Given the description of an element on the screen output the (x, y) to click on. 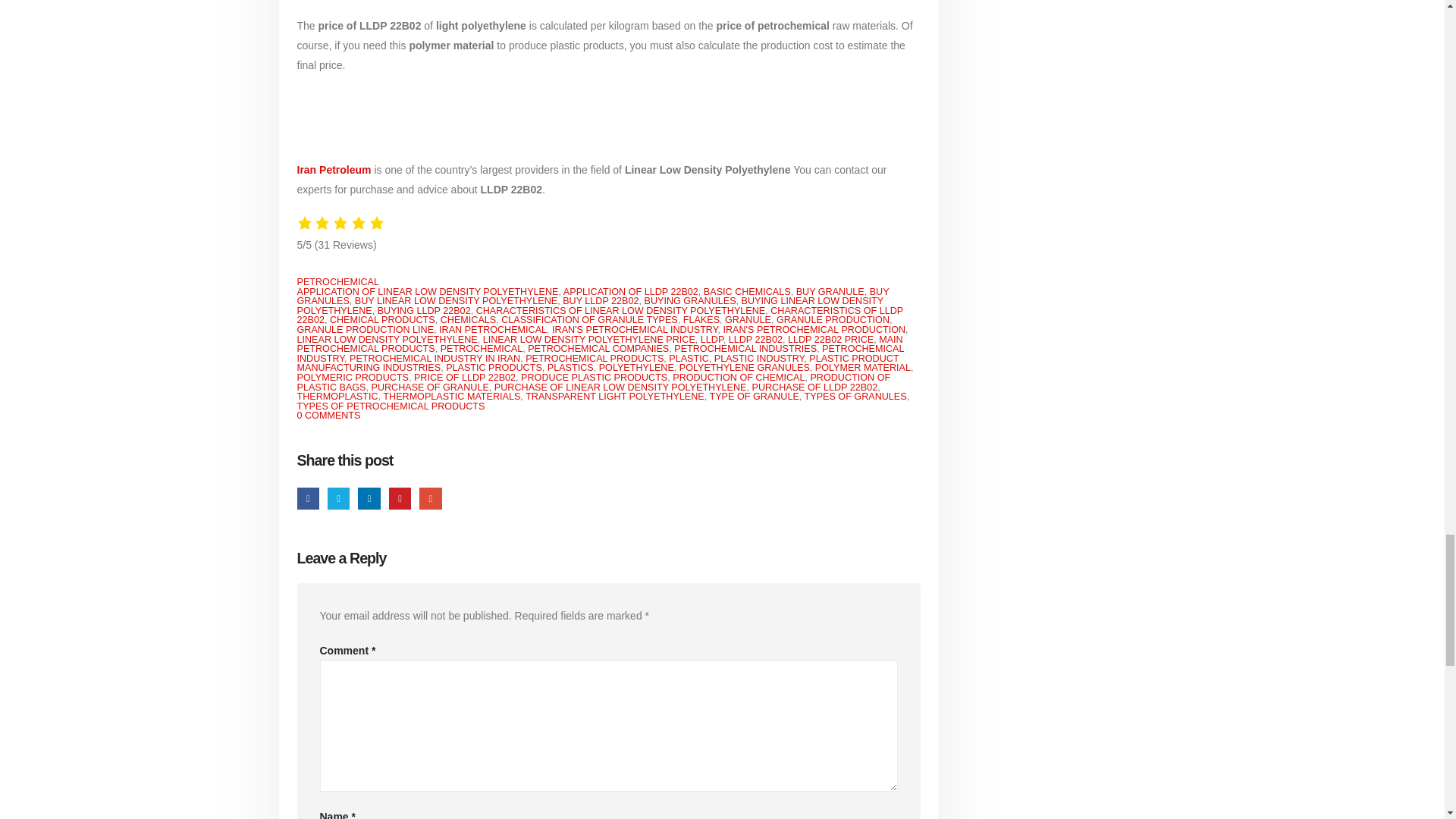
Iran Petroleum (334, 169)
BUYING LINEAR LOW DENSITY POLYETHYLENE (590, 305)
0 COMMENTS (329, 415)
LinkedIn (369, 498)
APPLICATION OF LLDP 22B02 (630, 291)
BUY LLDP 22B02 (600, 300)
Facebook (307, 498)
APPLICATION OF LINEAR LOW DENSITY POLYETHYLENE (428, 291)
Twitter (338, 498)
BUY GRANULE (830, 291)
